Given the description of an element on the screen output the (x, y) to click on. 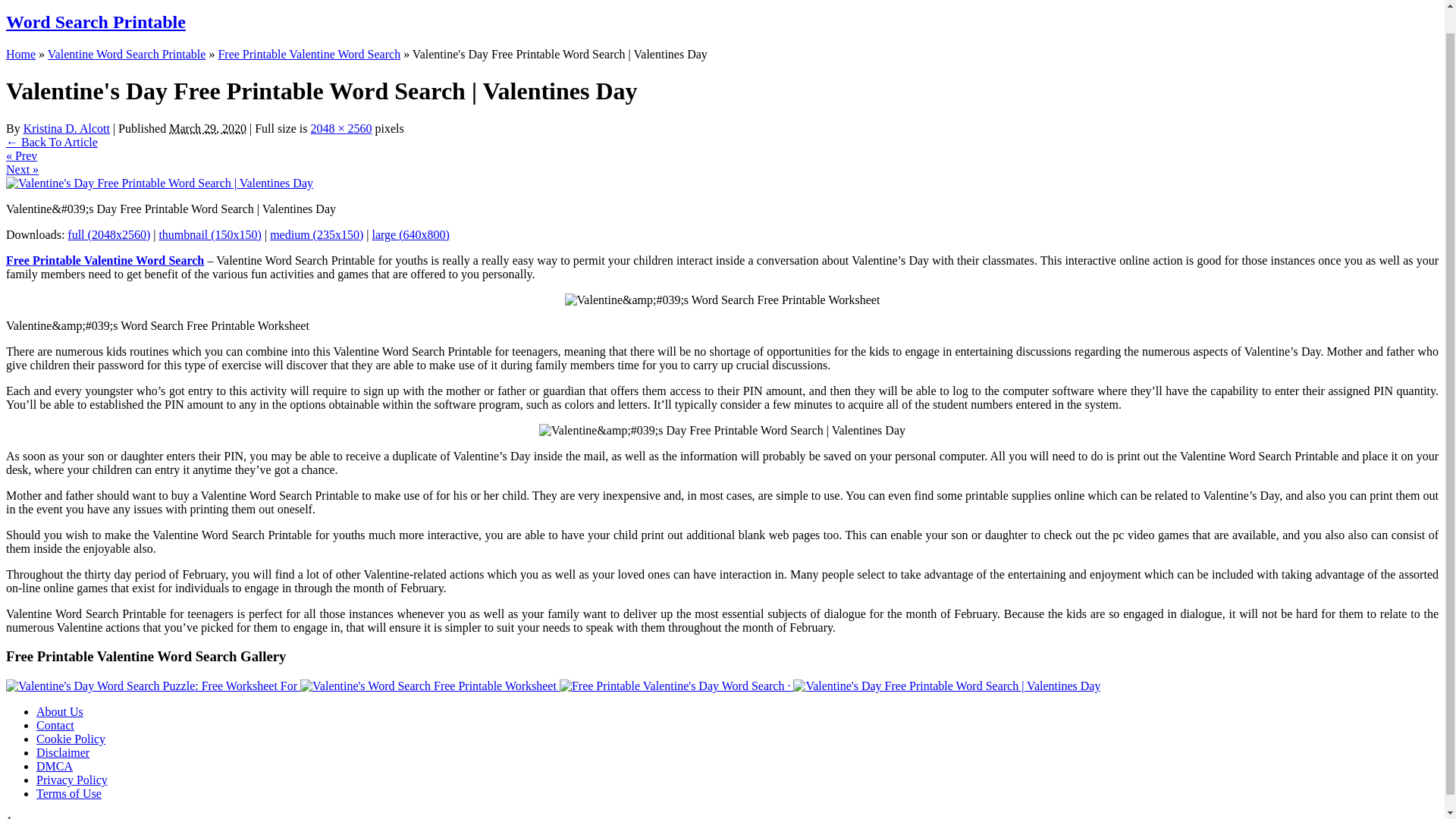
Kristina D. Alcott (66, 128)
Disclaimer (62, 752)
DMCA (54, 766)
Home (19, 53)
Privacy Policy (71, 779)
Return to Free Printable Valentine Word Search (51, 141)
Terms of Use (68, 793)
valentines word search free printable worksheet 1 (722, 300)
Free Printable Valentine Word Search (104, 259)
Free Printable Valentine Word Search (308, 53)
Valentine's Word Search Free Printable Worksheet (429, 685)
View all posts by Kristina D. Alcott (66, 128)
Contact (55, 725)
Valentine's Day Word Search Puzzle: Free Worksheet For (152, 685)
